Given the description of an element on the screen output the (x, y) to click on. 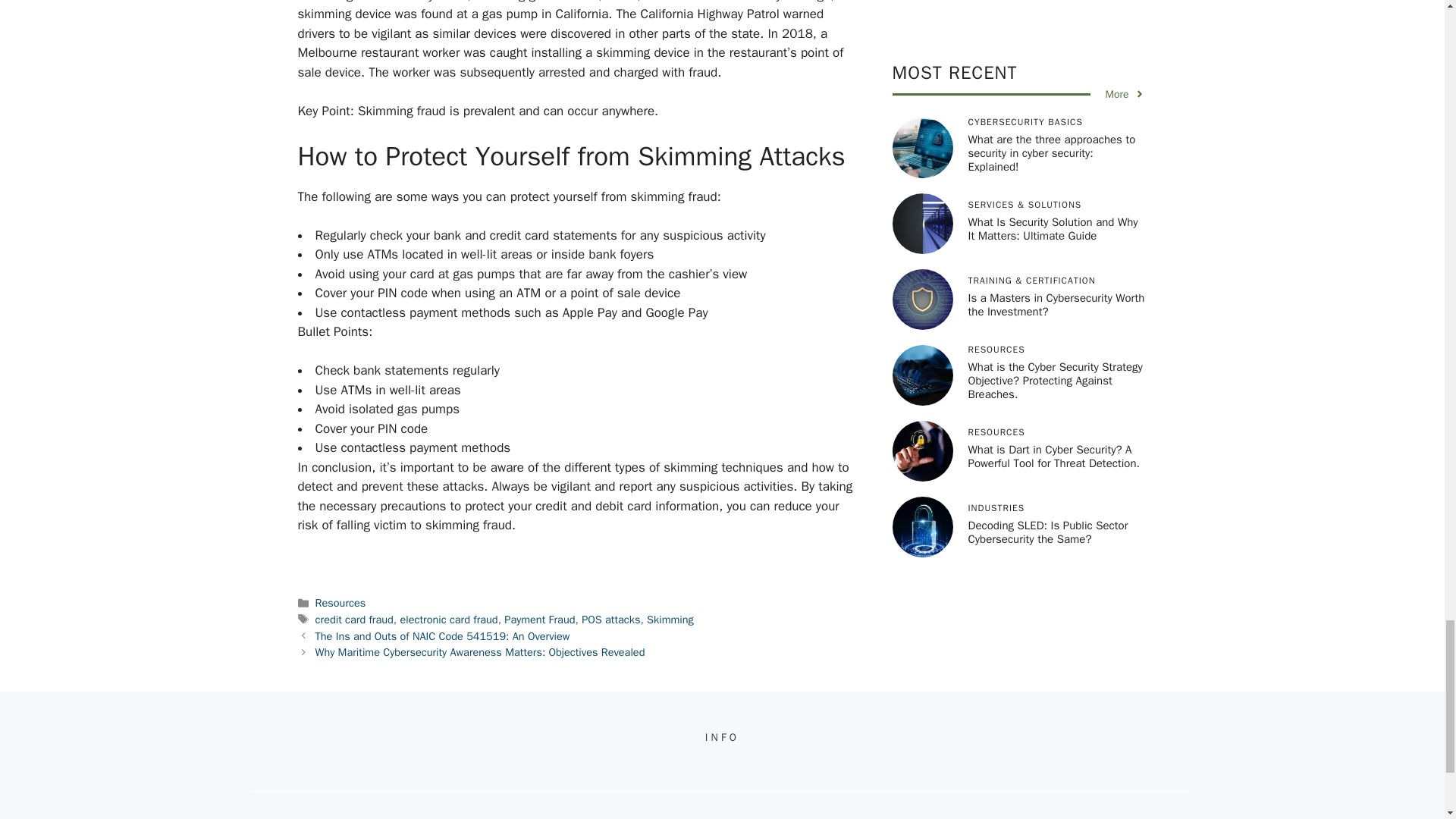
Payment Fraud (539, 619)
POS attacks (610, 619)
electronic card fraud (447, 619)
credit card fraud (354, 619)
Resources (340, 602)
Skimming (670, 619)
The Ins and Outs of NAIC Code 541519: An Overview (442, 635)
